Given the description of an element on the screen output the (x, y) to click on. 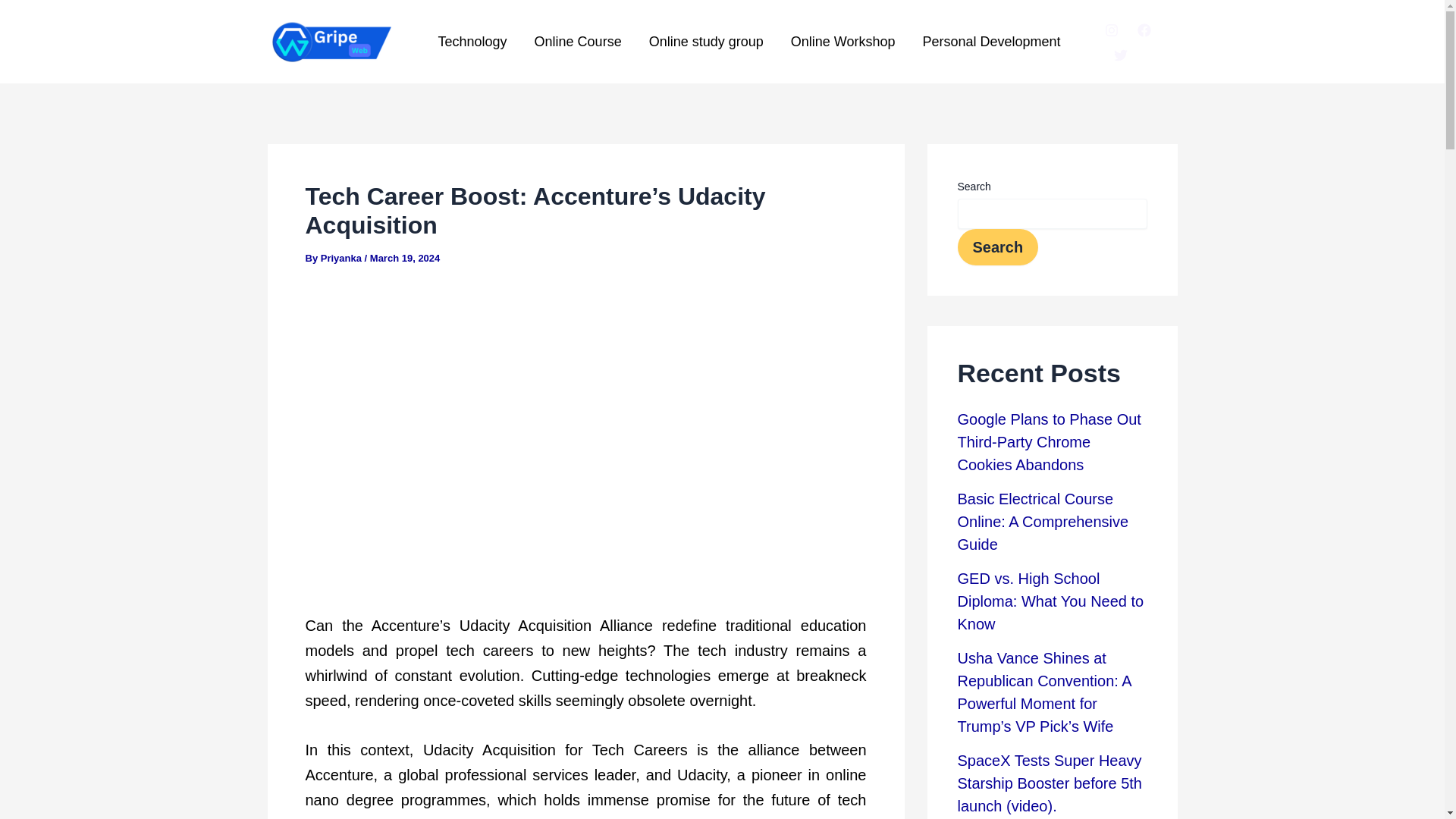
GED vs. High School Diploma: What You Need to Know (1049, 601)
Online study group (705, 41)
Online Workshop (842, 41)
Personal Development (991, 41)
Search (997, 247)
Online Course (577, 41)
View all posts by Priyanka (342, 257)
Technology (473, 41)
Basic Electrical Course Online: A Comprehensive Guide (1042, 521)
Priyanka (342, 257)
